Given the description of an element on the screen output the (x, y) to click on. 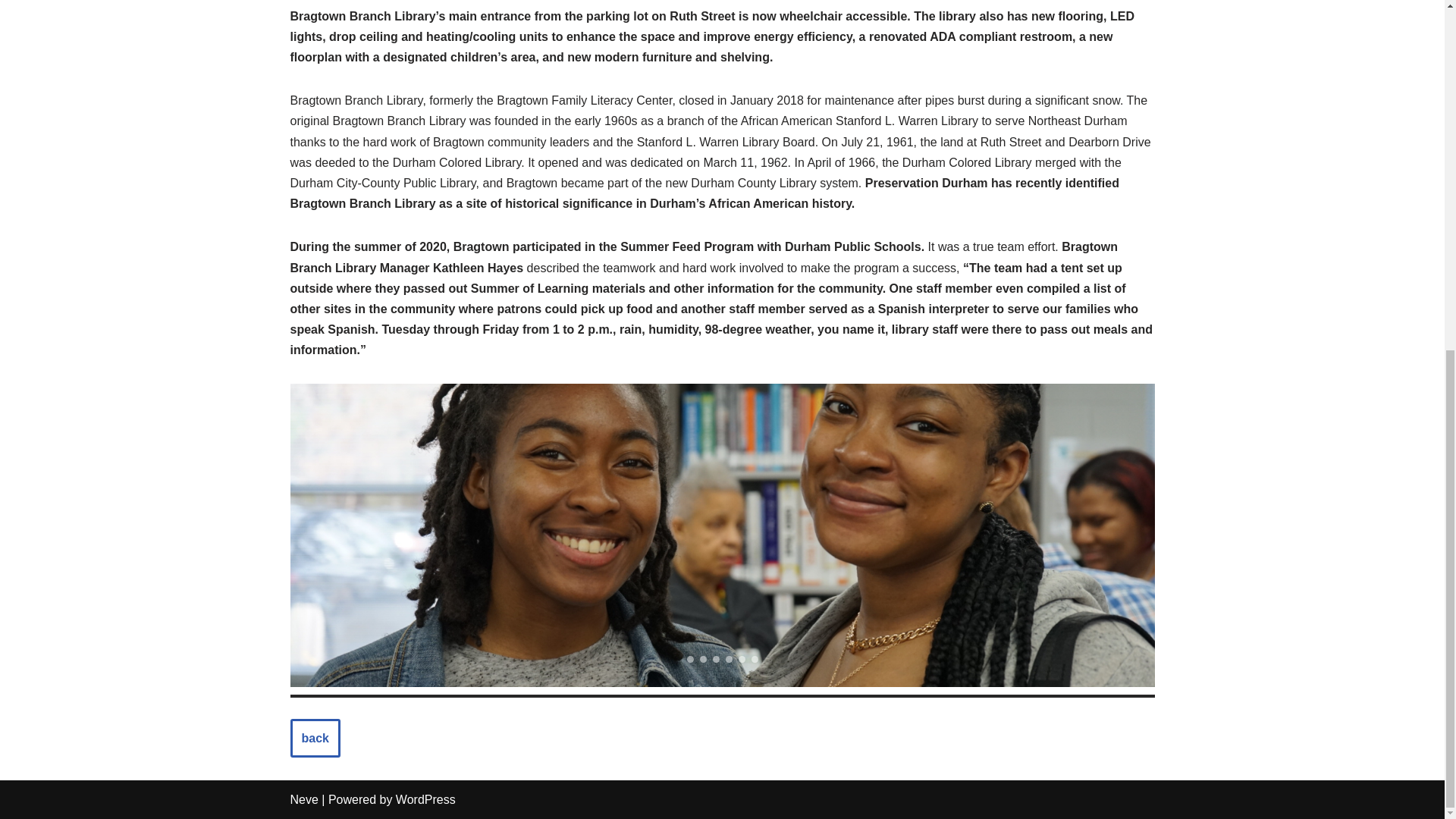
back (314, 738)
WordPress (425, 799)
Neve (303, 799)
